Given the description of an element on the screen output the (x, y) to click on. 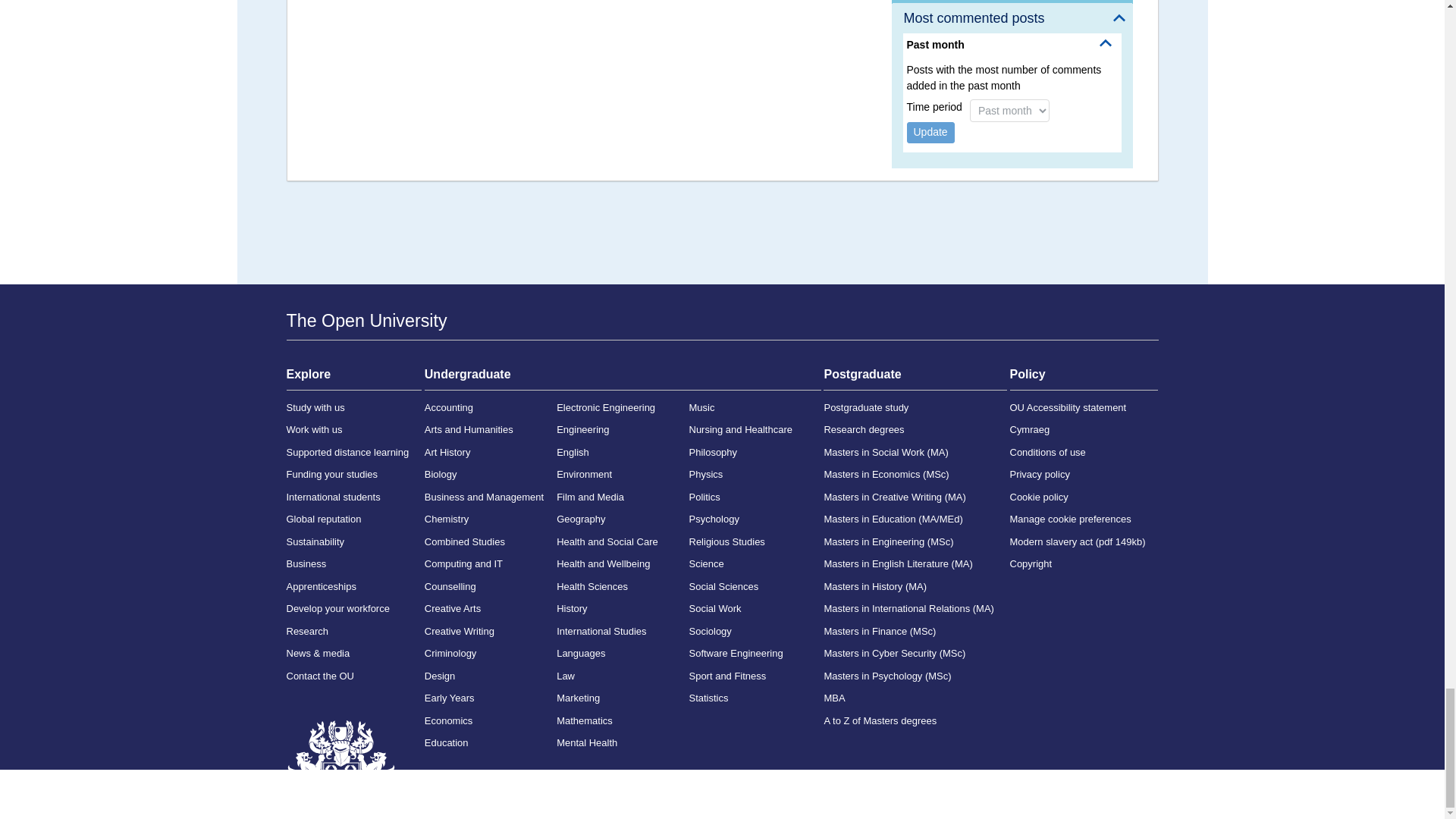
Blog usage (1011, 2)
Hide options (1105, 42)
Update (931, 132)
